Given the description of an element on the screen output the (x, y) to click on. 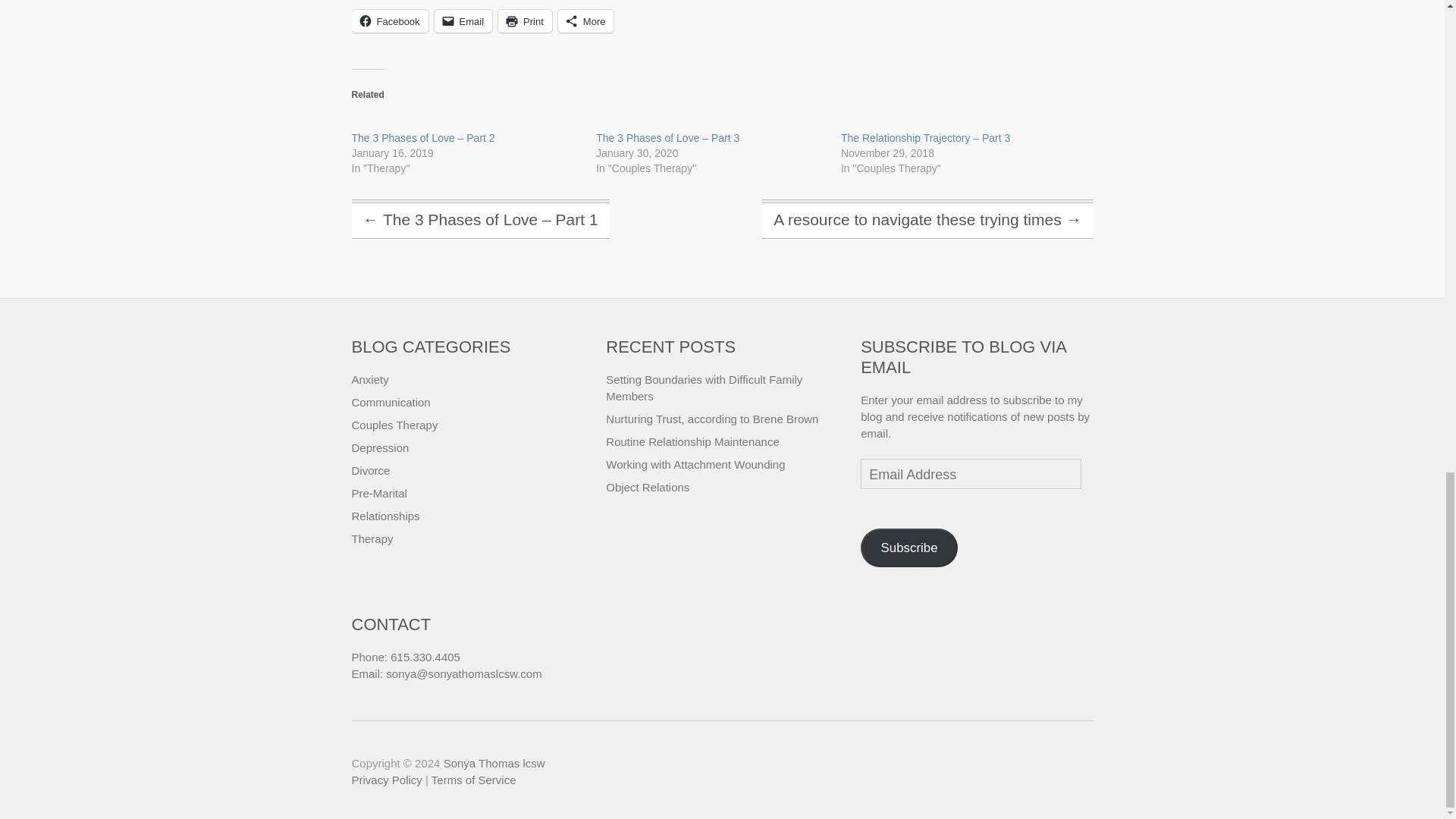
Print (524, 20)
Click to email a link to a friend (463, 20)
Anxiety (370, 379)
Depression (380, 447)
Communication (391, 401)
Click to print (524, 20)
Click to share on Facebook (390, 20)
More (585, 20)
Sonya Thomas lcsw (494, 762)
Couples Therapy (395, 424)
Email (463, 20)
Facebook (390, 20)
